Given the description of an element on the screen output the (x, y) to click on. 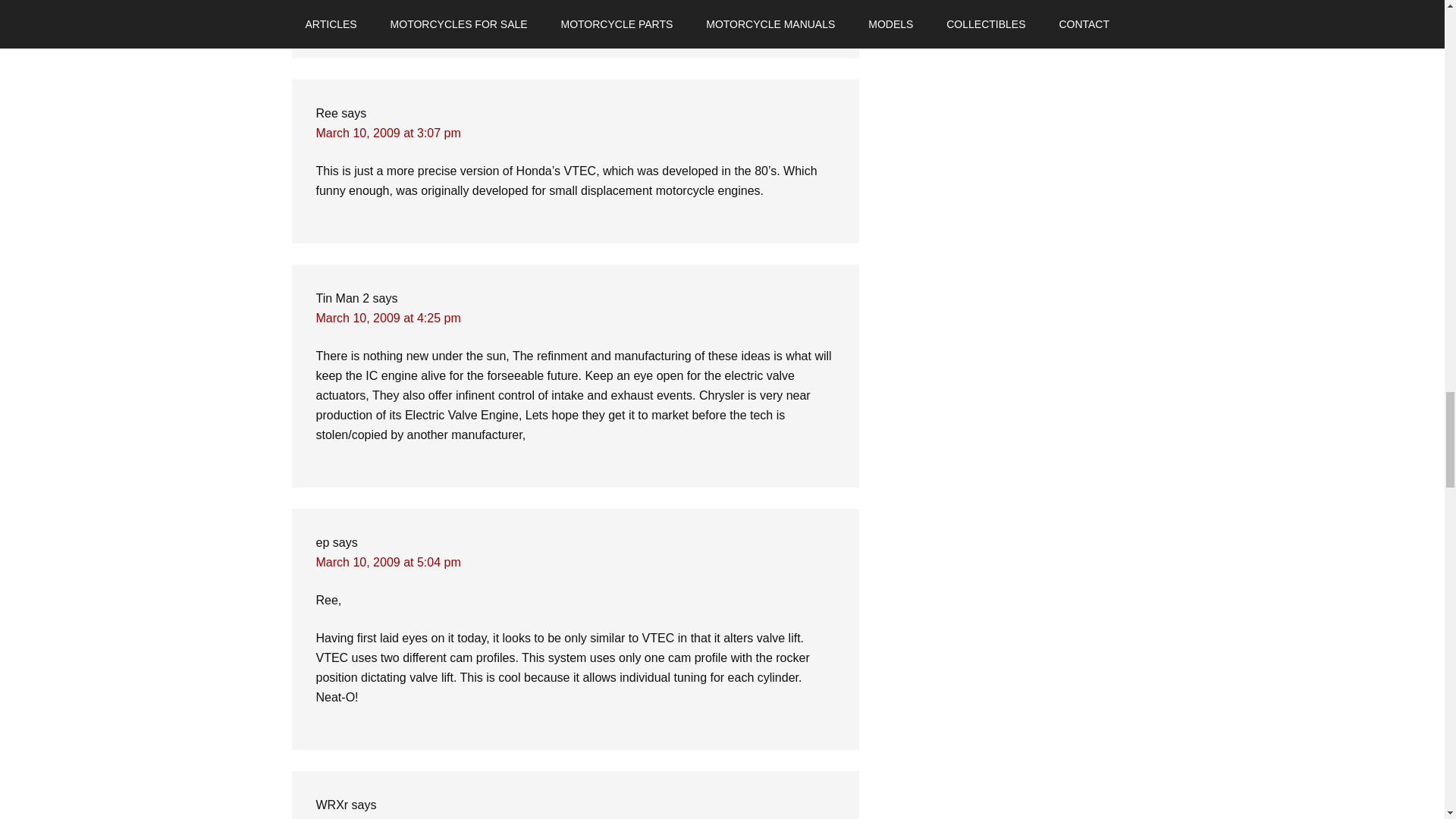
March 10, 2009 at 5:04 pm (387, 562)
March 10, 2009 at 3:07 pm (387, 132)
March 10, 2009 at 4:25 pm (387, 318)
